Given the description of an element on the screen output the (x, y) to click on. 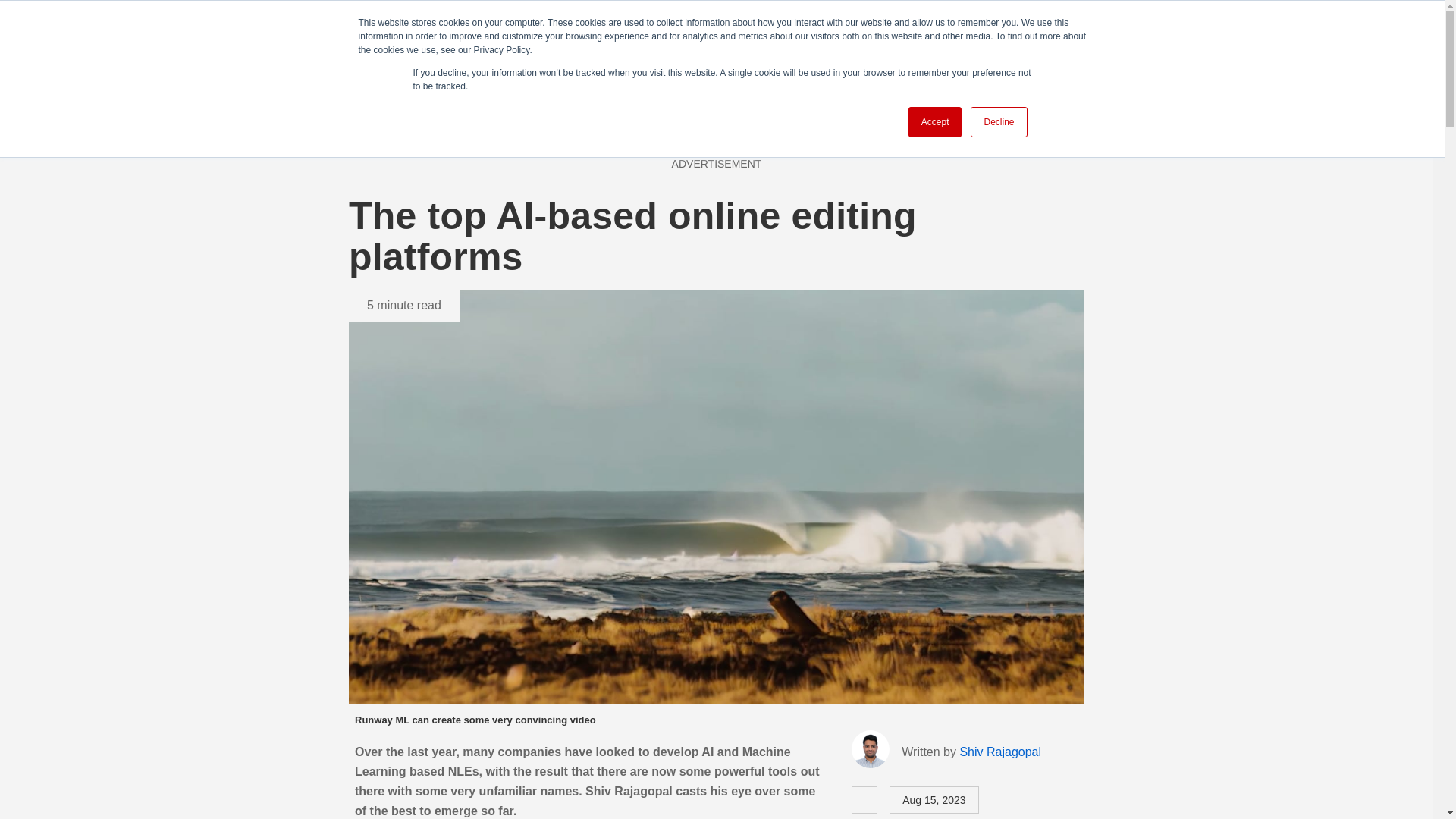
Accept (935, 122)
Shiv Rajagopal (1000, 751)
CLOUD PRODUCTION (890, 40)
red-shark-logo (323, 38)
Decline (998, 122)
PRODUCTION (479, 40)
TECHNOLOGY (759, 40)
SUBSCRIBE (1099, 42)
